Given the description of an element on the screen output the (x, y) to click on. 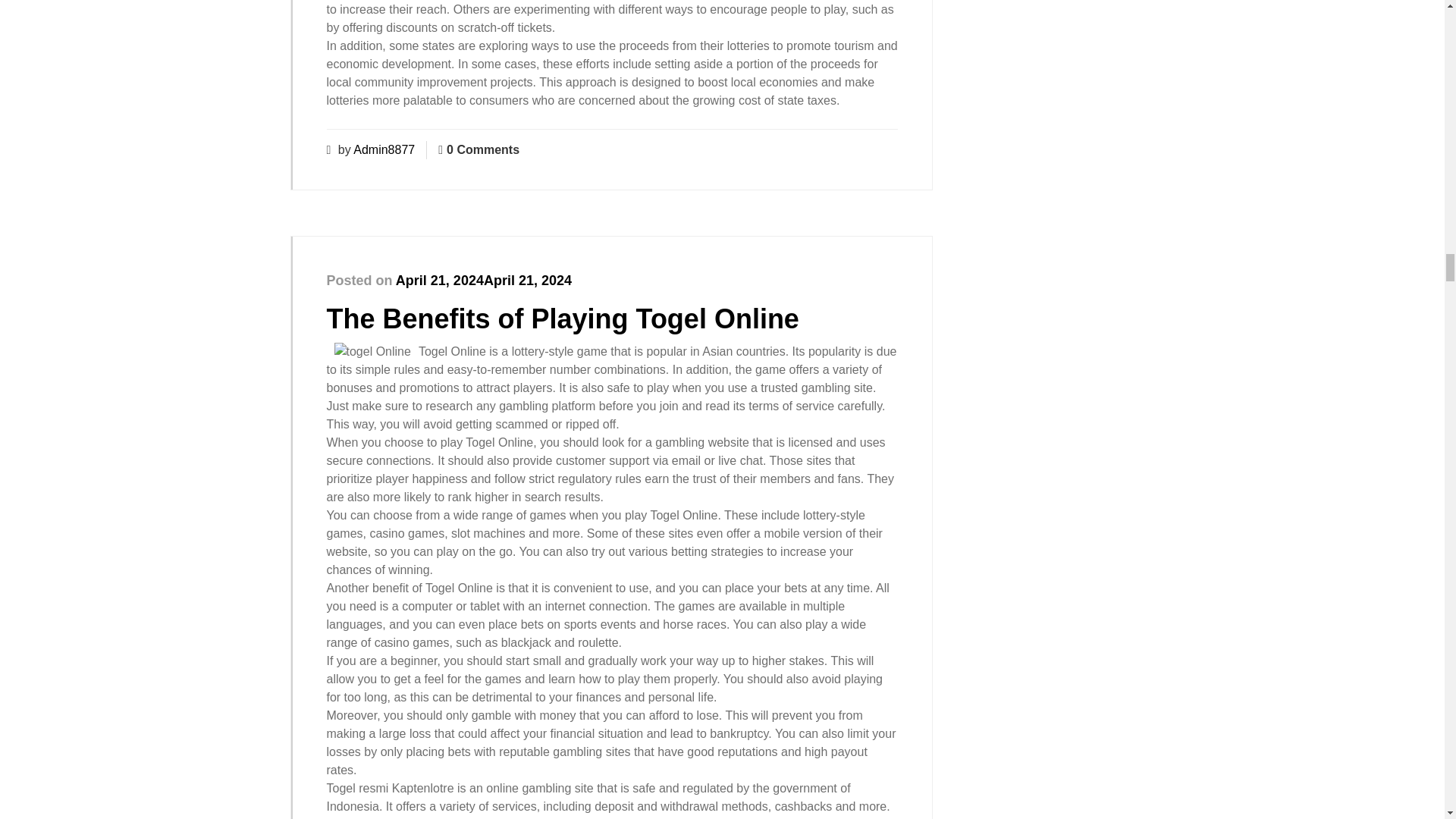
The Benefits of Playing Togel Online (561, 318)
April 21, 2024April 21, 2024 (484, 280)
Admin8877 (383, 149)
